Given the description of an element on the screen output the (x, y) to click on. 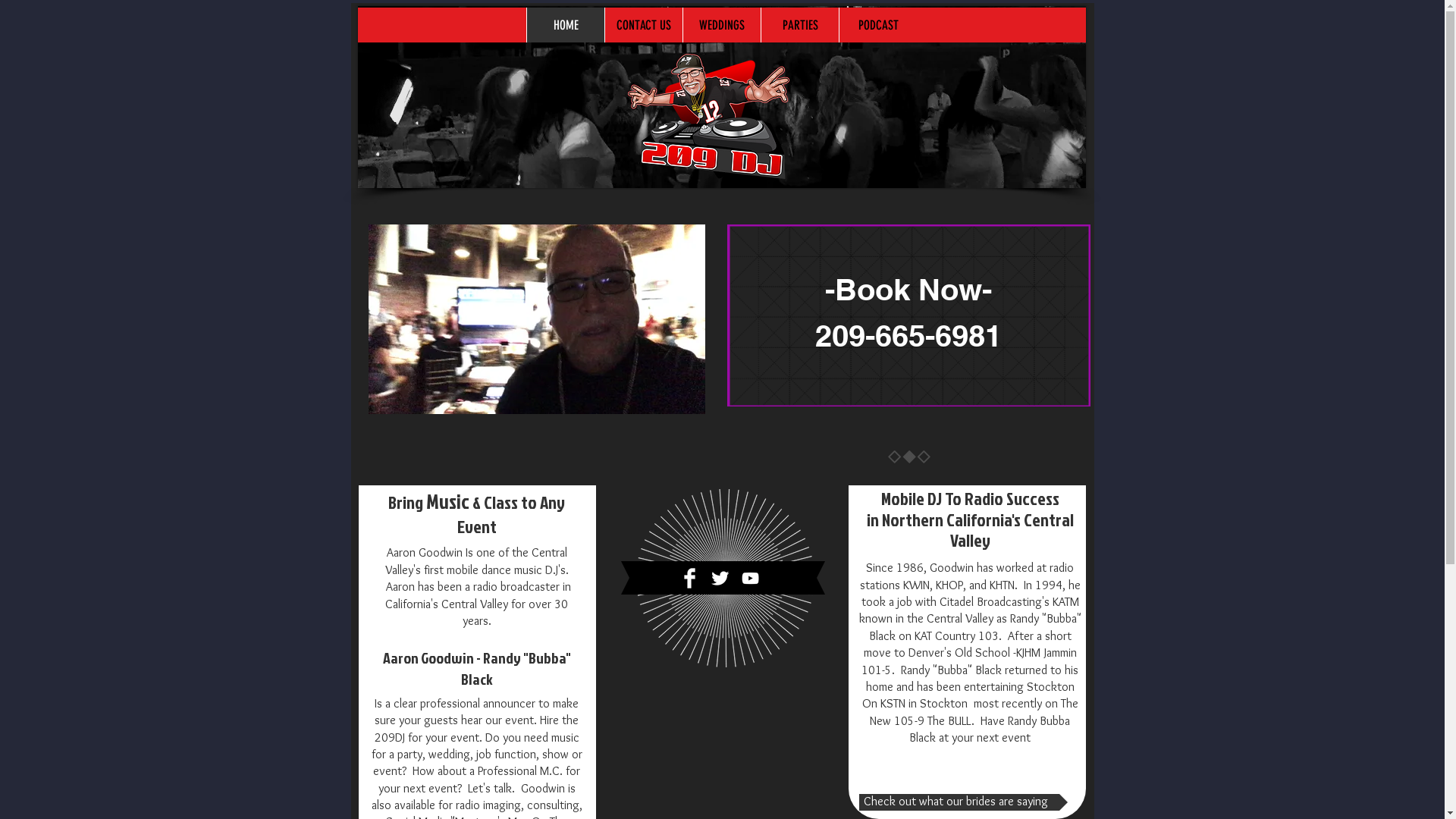
PARTIES Element type: text (799, 24)
Check out what our brides are saying Element type: text (962, 801)
PODCAST Element type: text (877, 24)
CONTACT US Element type: text (643, 24)
Aaron Goodwin, 209DJ Mobile DJ Element type: hover (907, 315)
209 DJ - Mobile DJ for any event. Element type: hover (724, 578)
Aaron Goodwin - 209DJ Element type: hover (708, 115)
WEDDINGS Element type: text (721, 24)
Aaron Goodwin, 209DJ Mobile DJ Element type: hover (721, 97)
HOME Element type: text (565, 24)
